Given the description of an element on the screen output the (x, y) to click on. 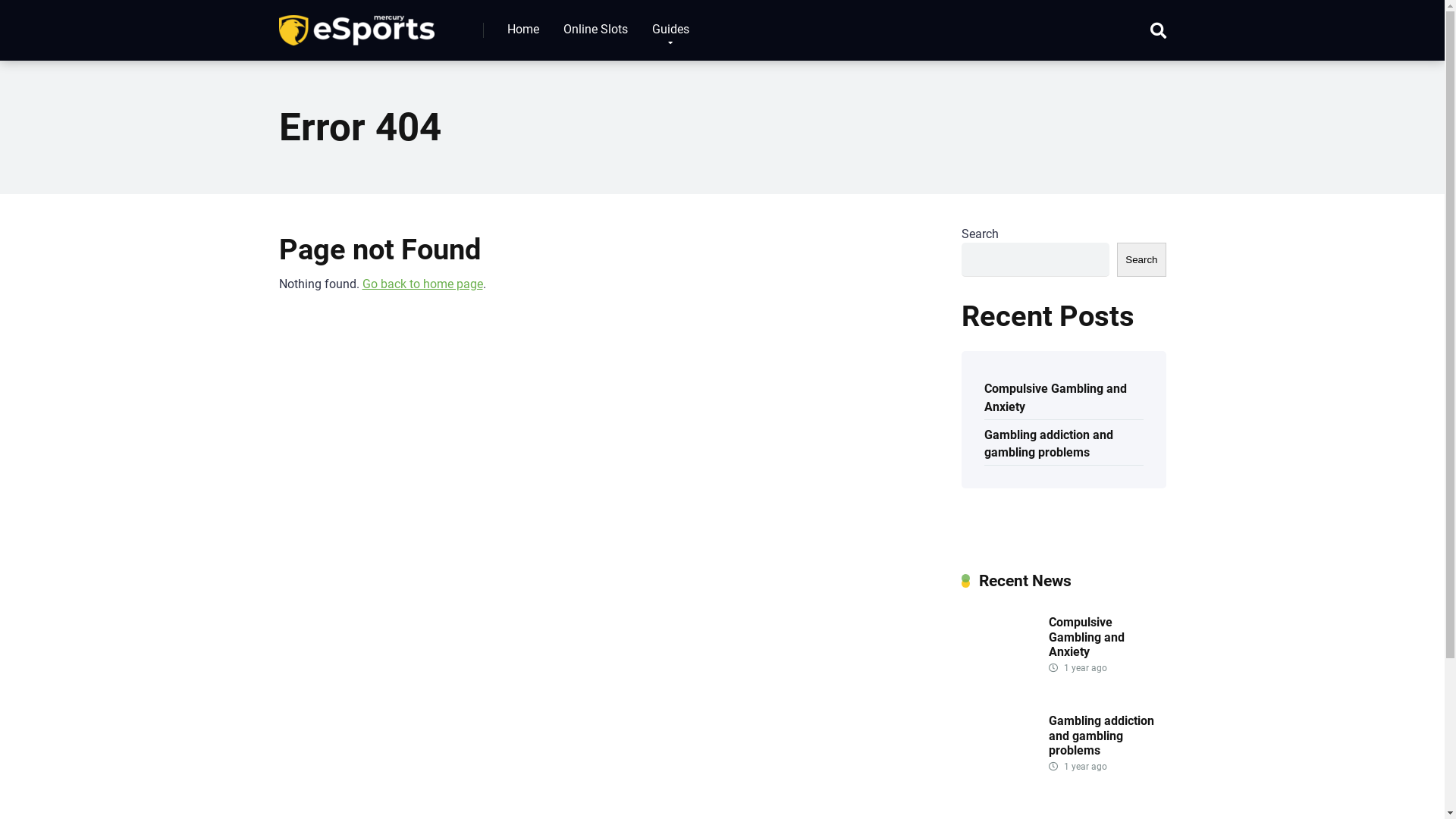
Go back to home page Element type: text (422, 283)
Search Element type: text (1141, 259)
Compulsive Gambling and Anxiety Element type: text (1085, 636)
Gambling addiction and gambling problems Element type: text (1100, 734)
Leiamais Element type: hover (356, 24)
Home Element type: text (522, 30)
Guides Element type: text (670, 30)
Compulsive Gambling and Anxiety Element type: text (1055, 396)
Gambling addiction and gambling problems Element type: text (1048, 442)
Online Slots Element type: text (594, 30)
